Given the description of an element on the screen output the (x, y) to click on. 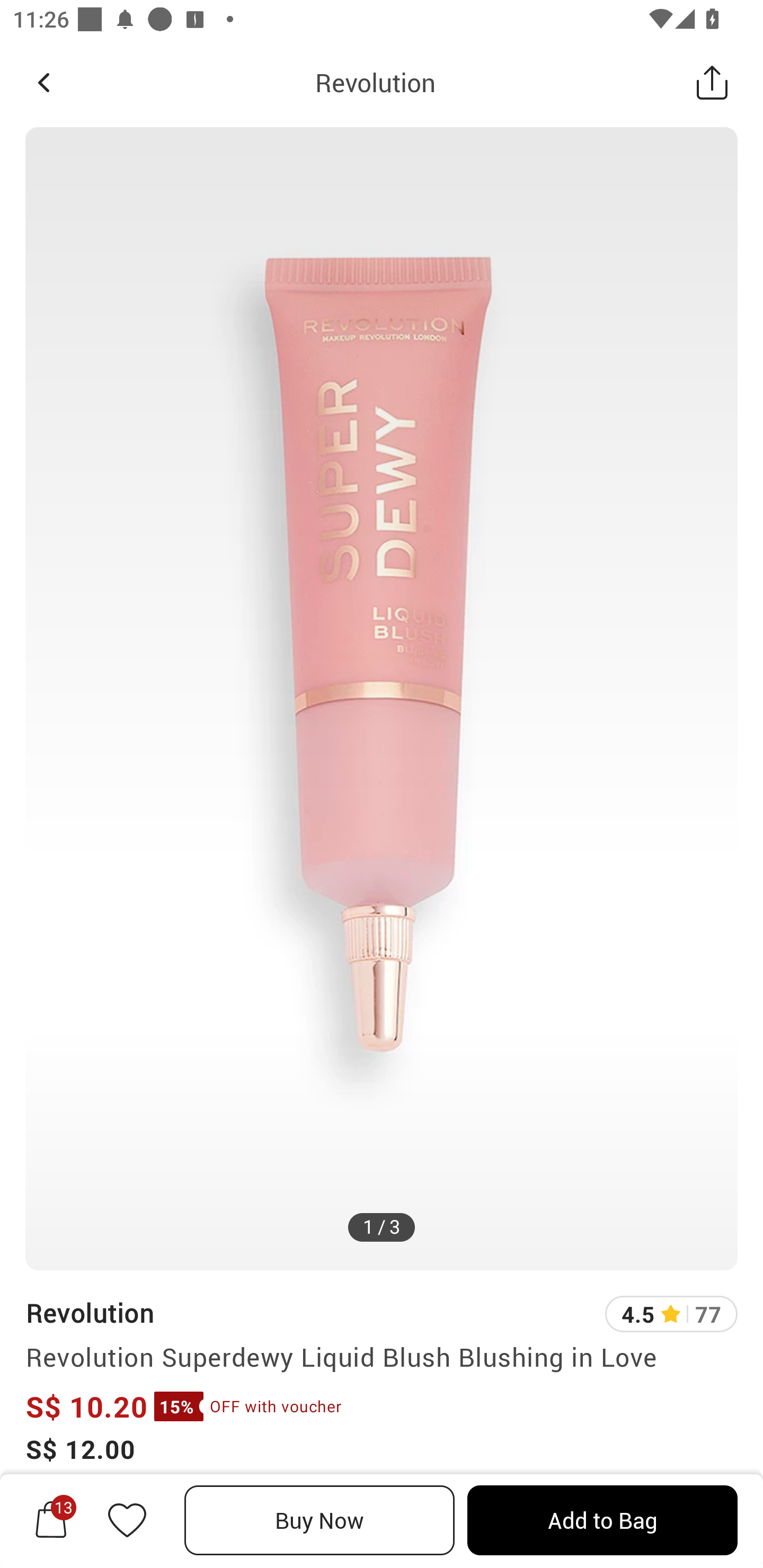
Revolution (375, 82)
Share this Product (711, 82)
Revolution (89, 1312)
4.5 77 (671, 1313)
Buy Now (319, 1519)
Add to Bag (601, 1519)
13 (50, 1520)
